Given the description of an element on the screen output the (x, y) to click on. 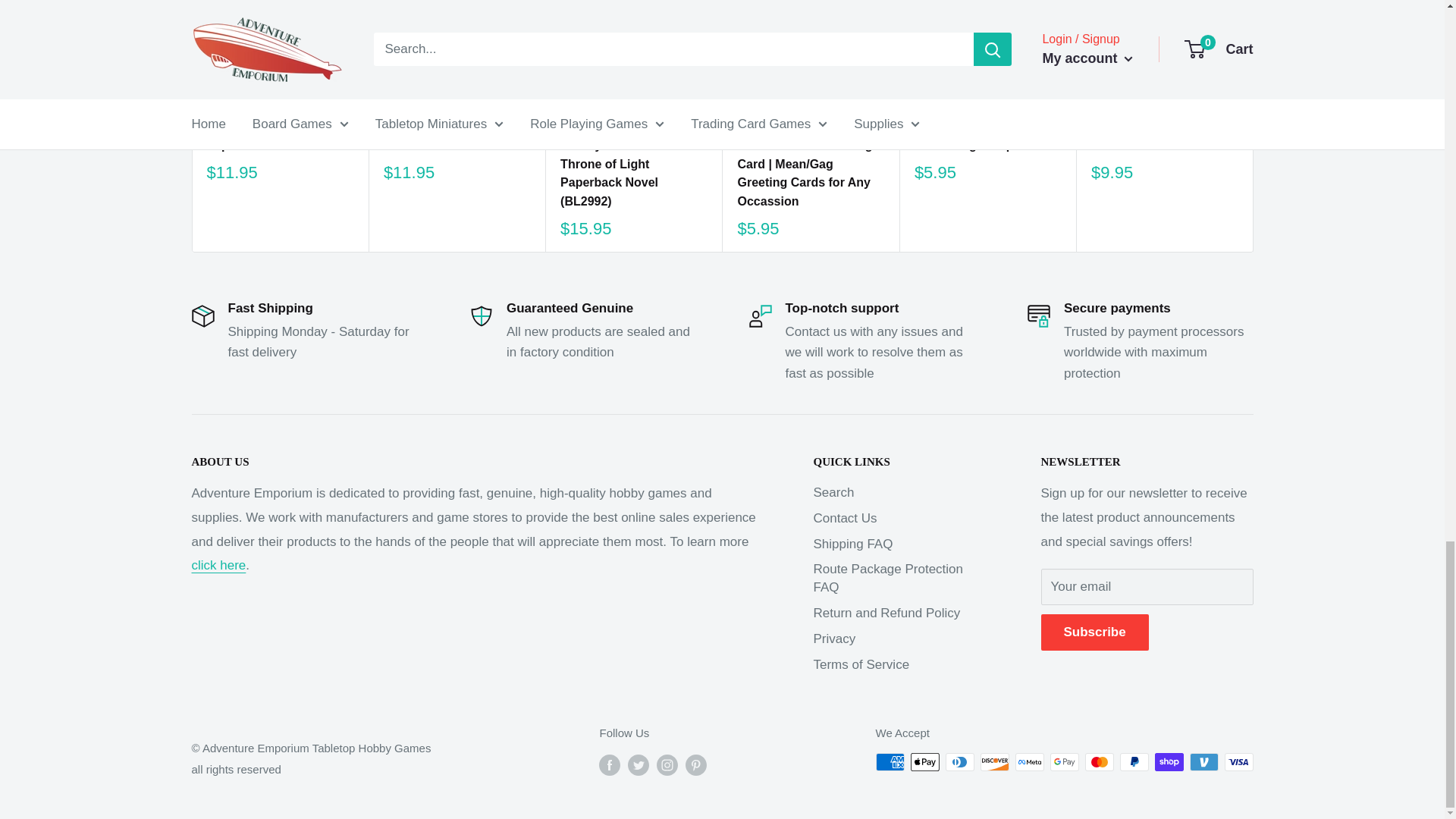
About Adventure Emporium (218, 564)
